Given the description of an element on the screen output the (x, y) to click on. 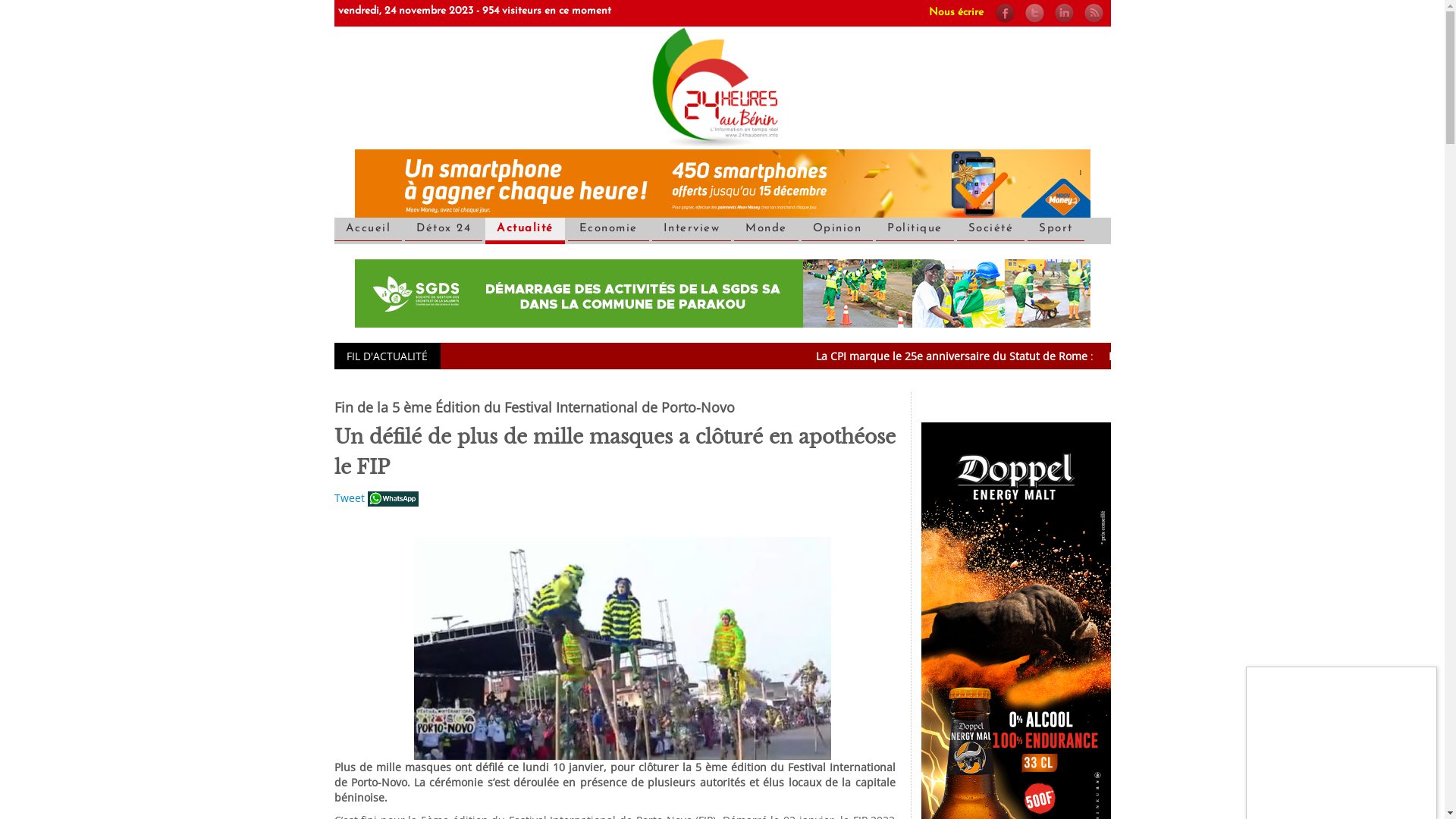
Notre page facebook Element type: hover (1009, 12)
Sport Element type: text (1055, 229)
Tweet Element type: text (348, 497)
La CPI marque le 25e anniversaire du Statut de Rome : Element type: text (1057, 355)
Syndiquer tout le site Element type: hover (1097, 12)
Economie Element type: text (607, 229)
Politique Element type: text (914, 229)
Interview Element type: text (691, 229)
Monde Element type: text (766, 229)
Accueil Element type: text (367, 229)
Accueil Element type: hover (721, 86)
Opinion Element type: text (836, 229)
@24haubenin Element type: hover (1039, 12)
